Given the description of an element on the screen output the (x, y) to click on. 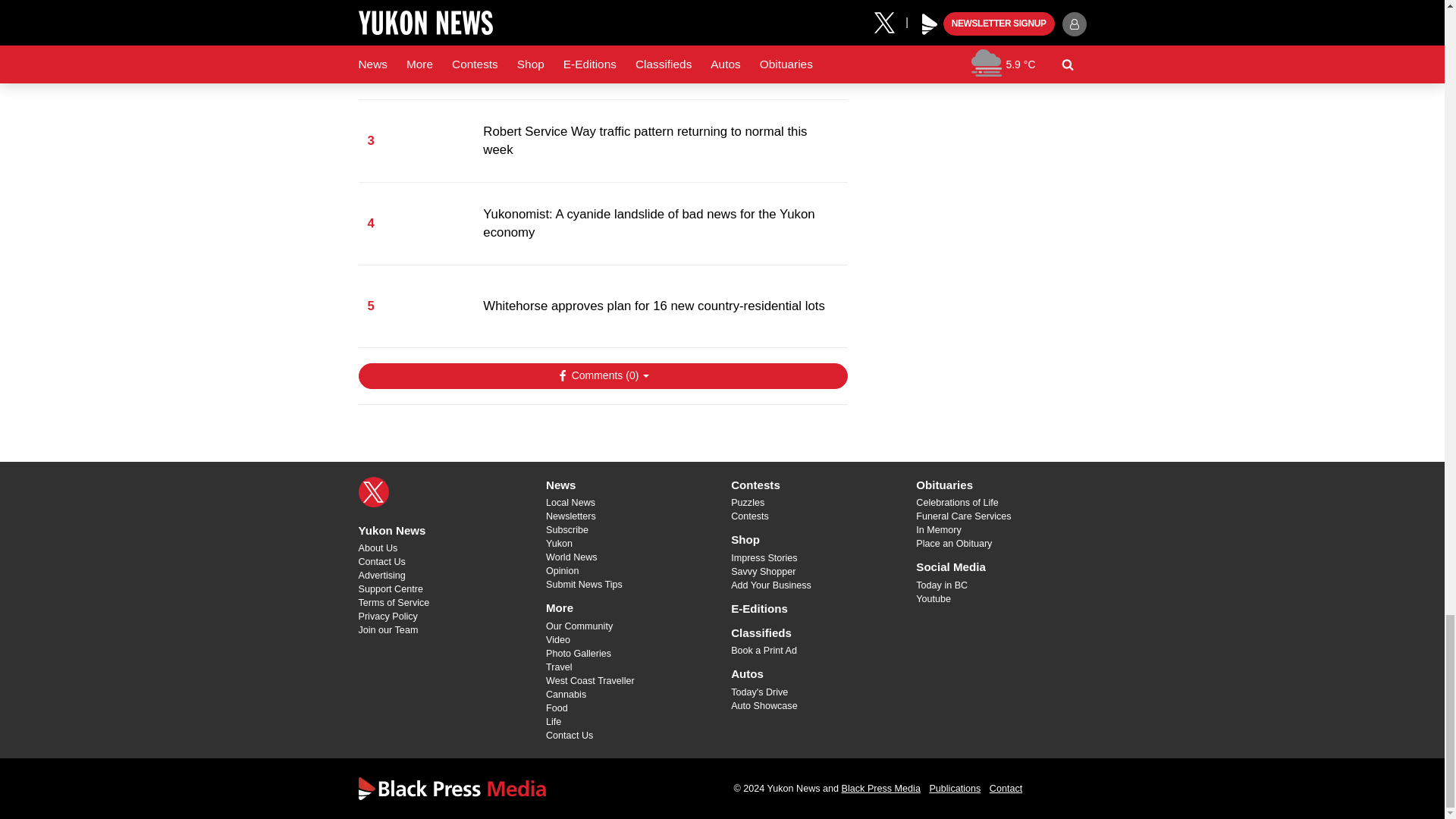
X (373, 491)
Show Comments (602, 376)
